Given the description of an element on the screen output the (x, y) to click on. 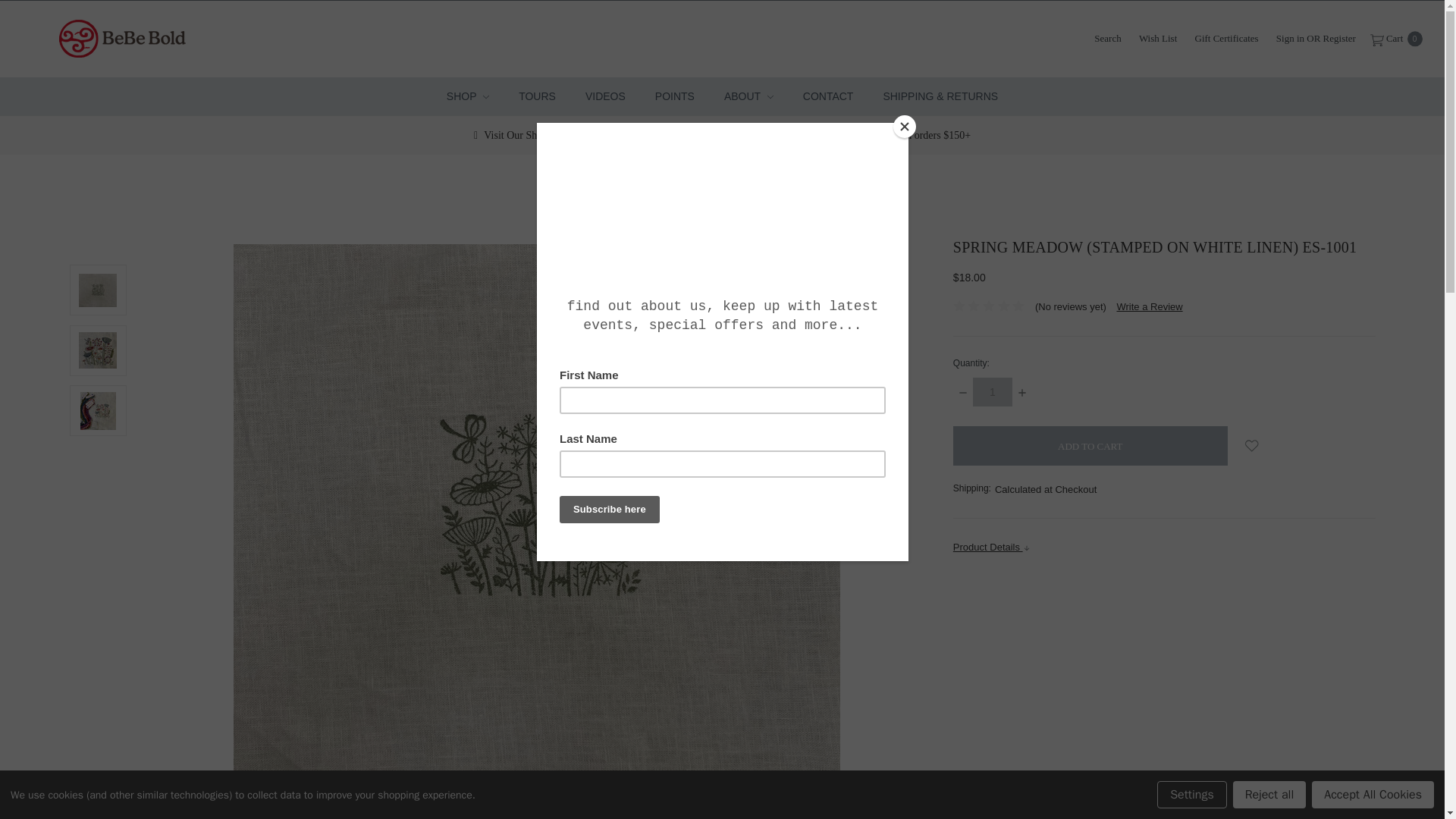
Smile.io Rewards Program Launcher (1406, 780)
Sign in (1289, 37)
Search (1107, 37)
Product Details (1164, 547)
1 (991, 391)
SHOP (466, 96)
Add to Cart (1090, 445)
Cart 0 (1395, 37)
Wish List (1158, 37)
Gift Certificates (1227, 37)
Register (1339, 37)
